Given the description of an element on the screen output the (x, y) to click on. 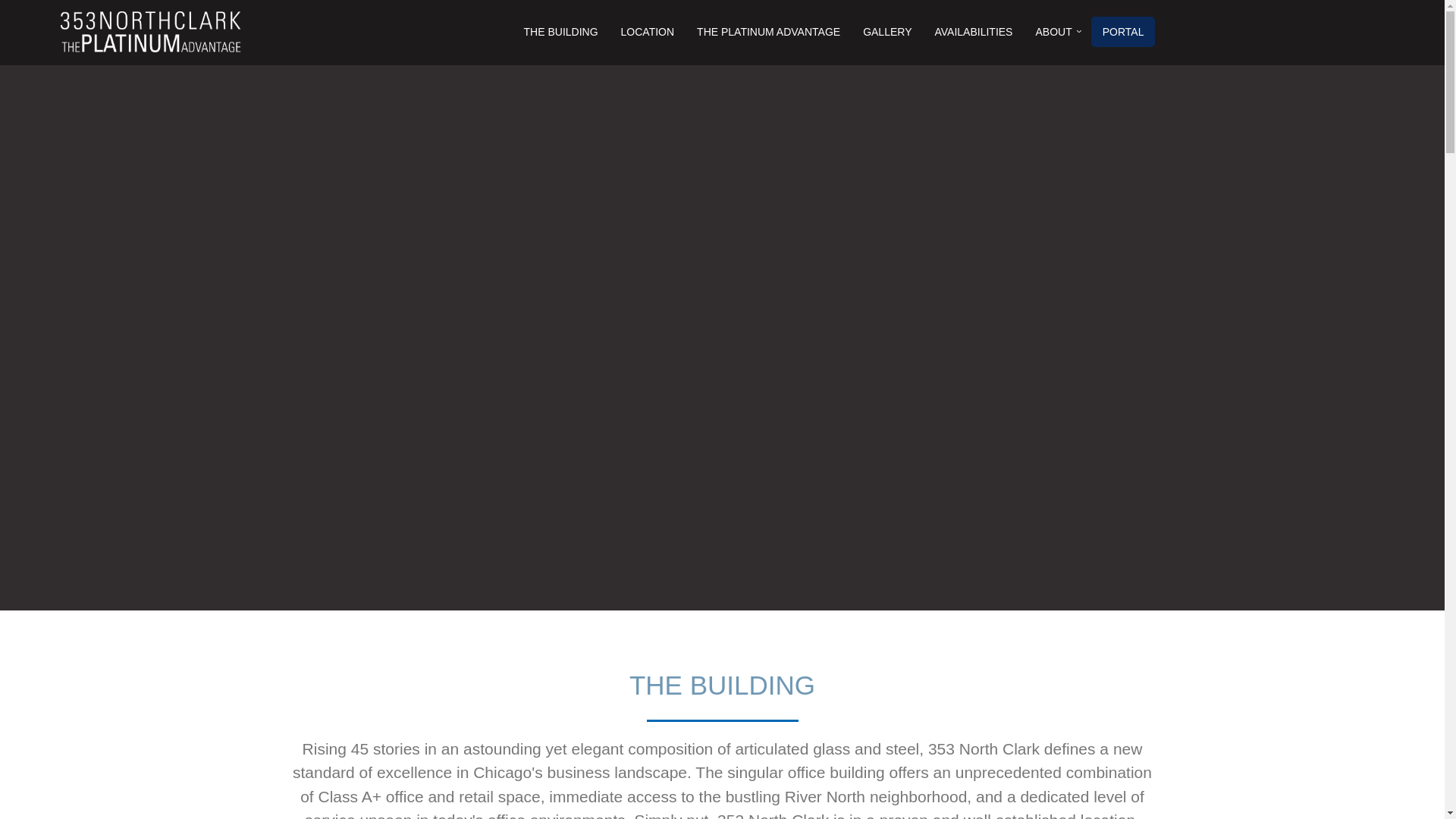
ABOUT Element type: text (1052, 31)
THE PLATINUM ADVANTAGE Element type: text (768, 31)
LOCATION Element type: text (647, 31)
THE BUILDING Element type: text (560, 31)
PORTAL Element type: text (1123, 31)
AVAILABILITIES Element type: text (972, 31)
GALLERY Element type: text (886, 31)
